Given the description of an element on the screen output the (x, y) to click on. 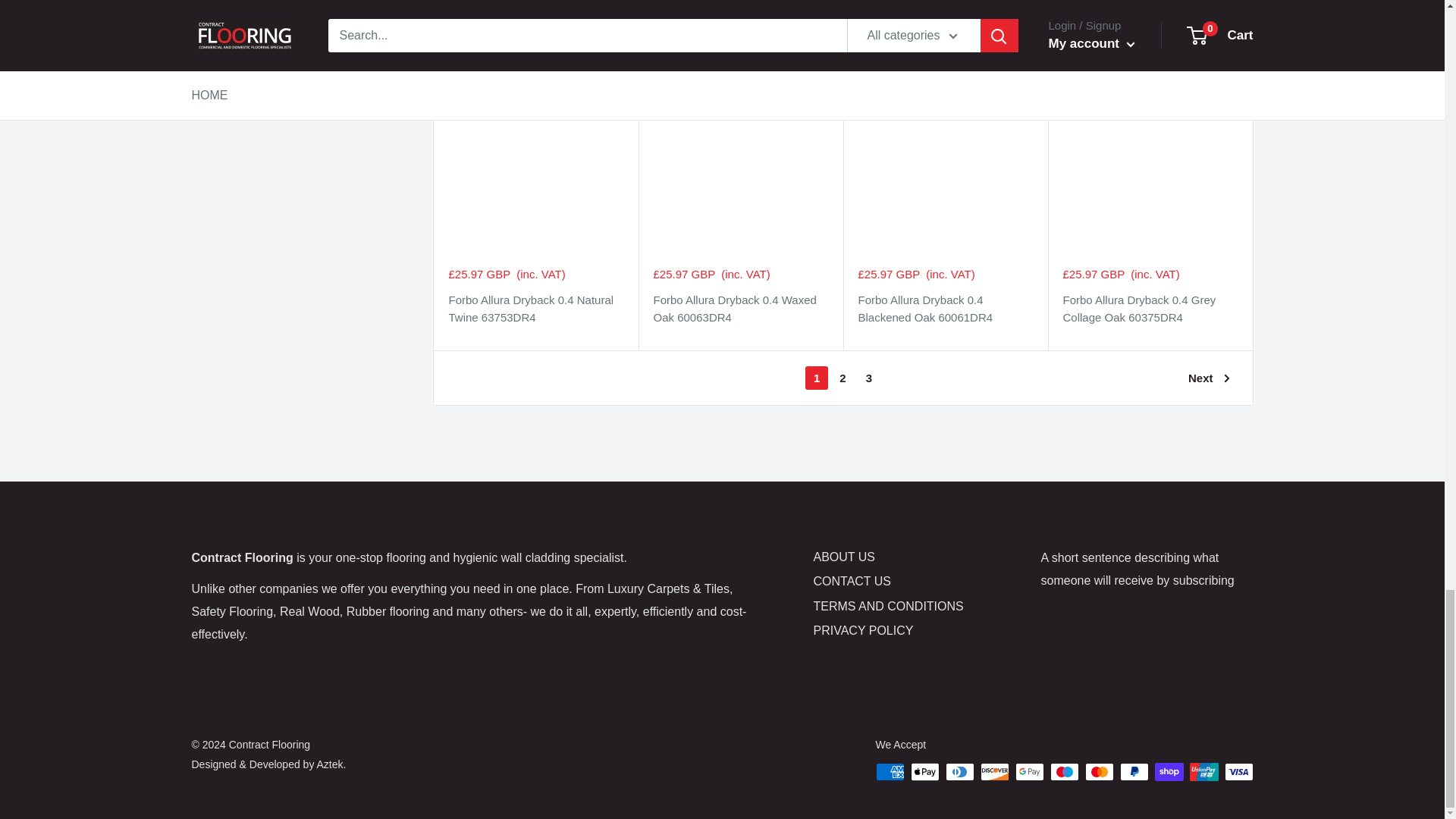
Navigate to page 2 (842, 377)
Next (1209, 377)
Navigate to page 3 (868, 377)
